Given the description of an element on the screen output the (x, y) to click on. 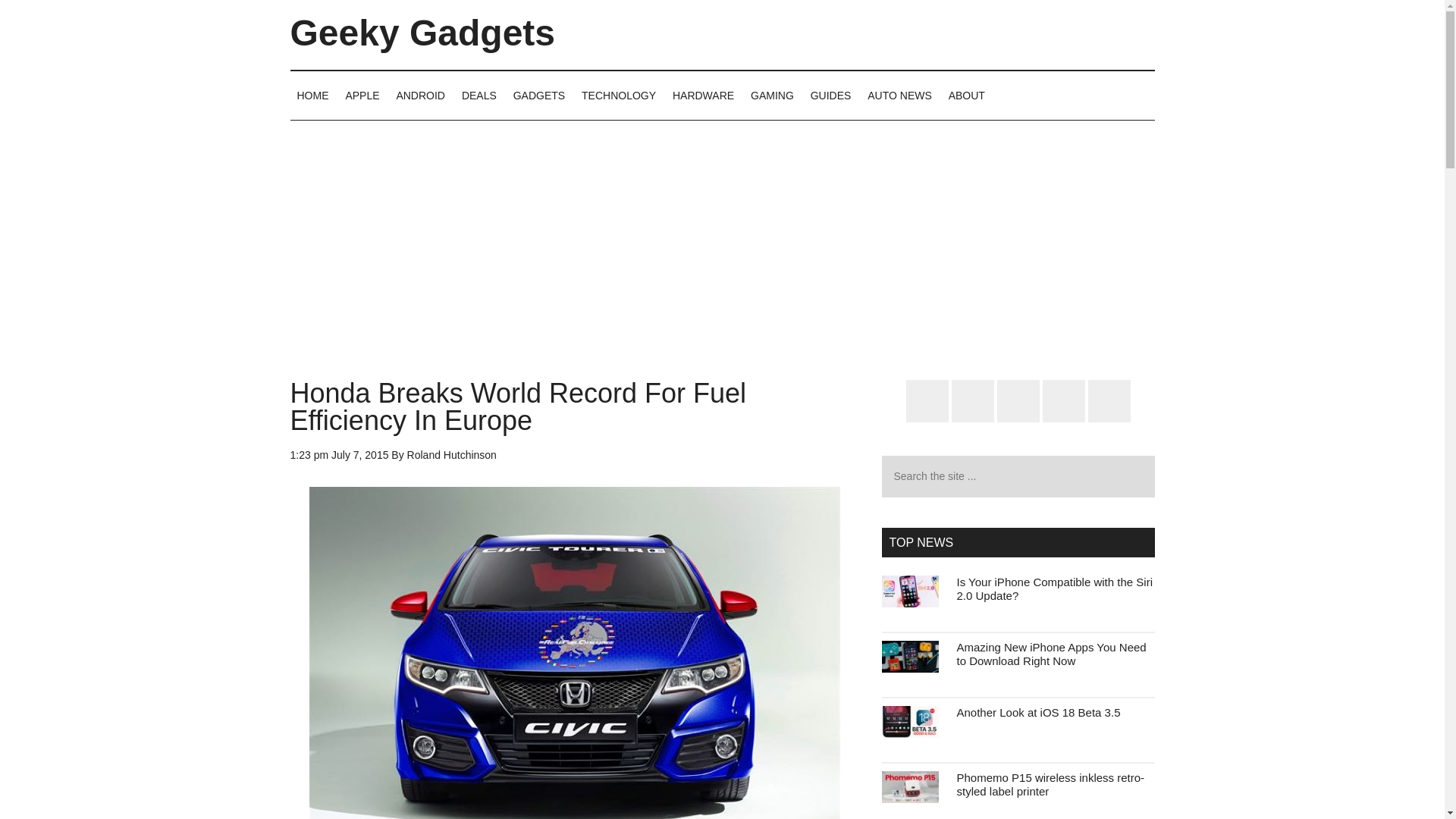
AUTO NEWS (899, 95)
DEALS (478, 95)
About Geeky Gadgets (966, 95)
GADGETS (539, 95)
ANDROID (419, 95)
TECHNOLOGY (618, 95)
Another Look at iOS 18 Beta 3.5 (1038, 712)
GUIDES (831, 95)
GAMING (772, 95)
HARDWARE (703, 95)
HOME (311, 95)
Is Your iPhone Compatible with the Siri 2.0 Update? (1054, 588)
